Given the description of an element on the screen output the (x, y) to click on. 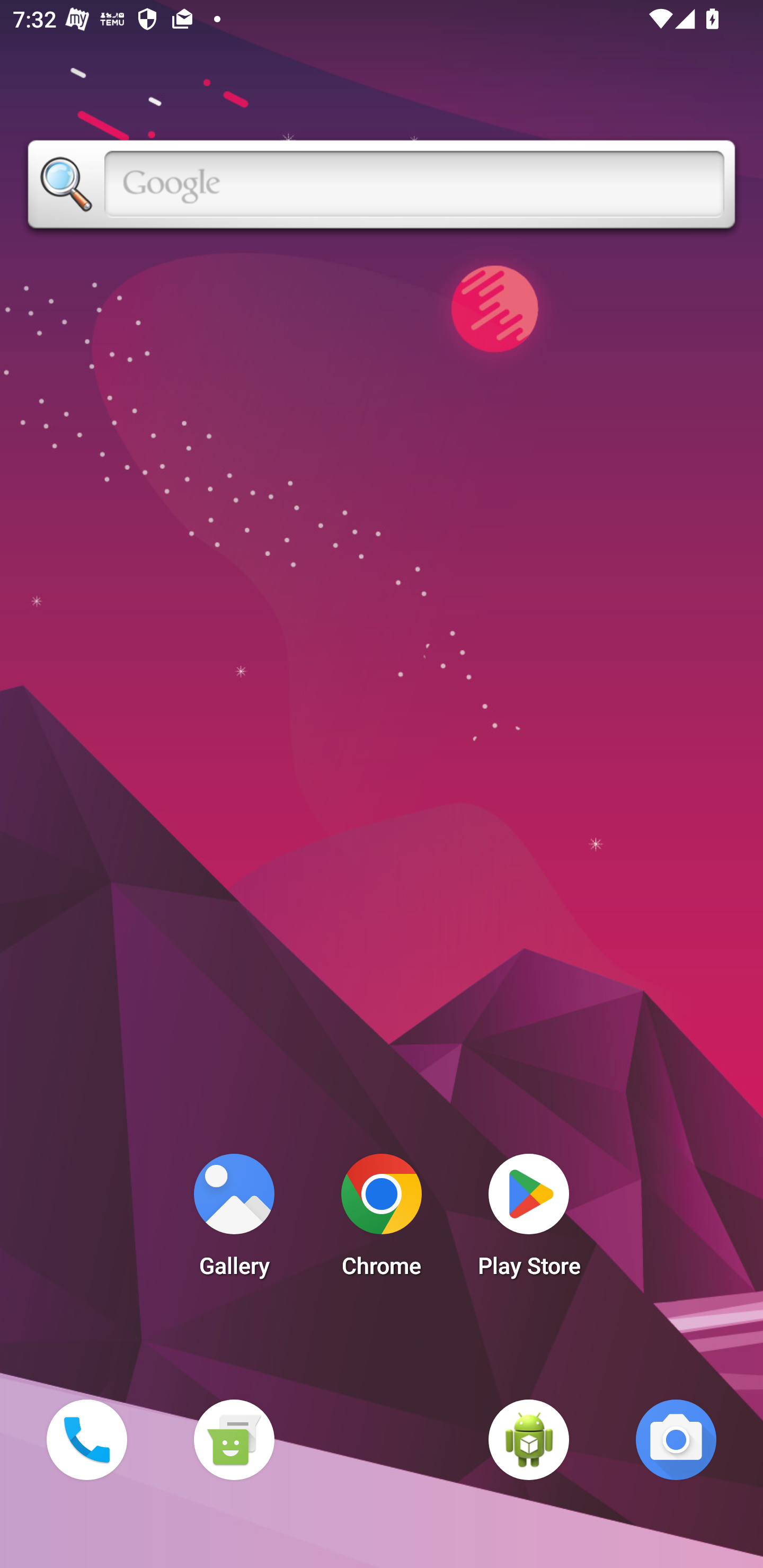
Gallery (233, 1220)
Chrome (381, 1220)
Play Store (528, 1220)
Phone (86, 1439)
Messaging (233, 1439)
WebView Browser Tester (528, 1439)
Camera (676, 1439)
